Given the description of an element on the screen output the (x, y) to click on. 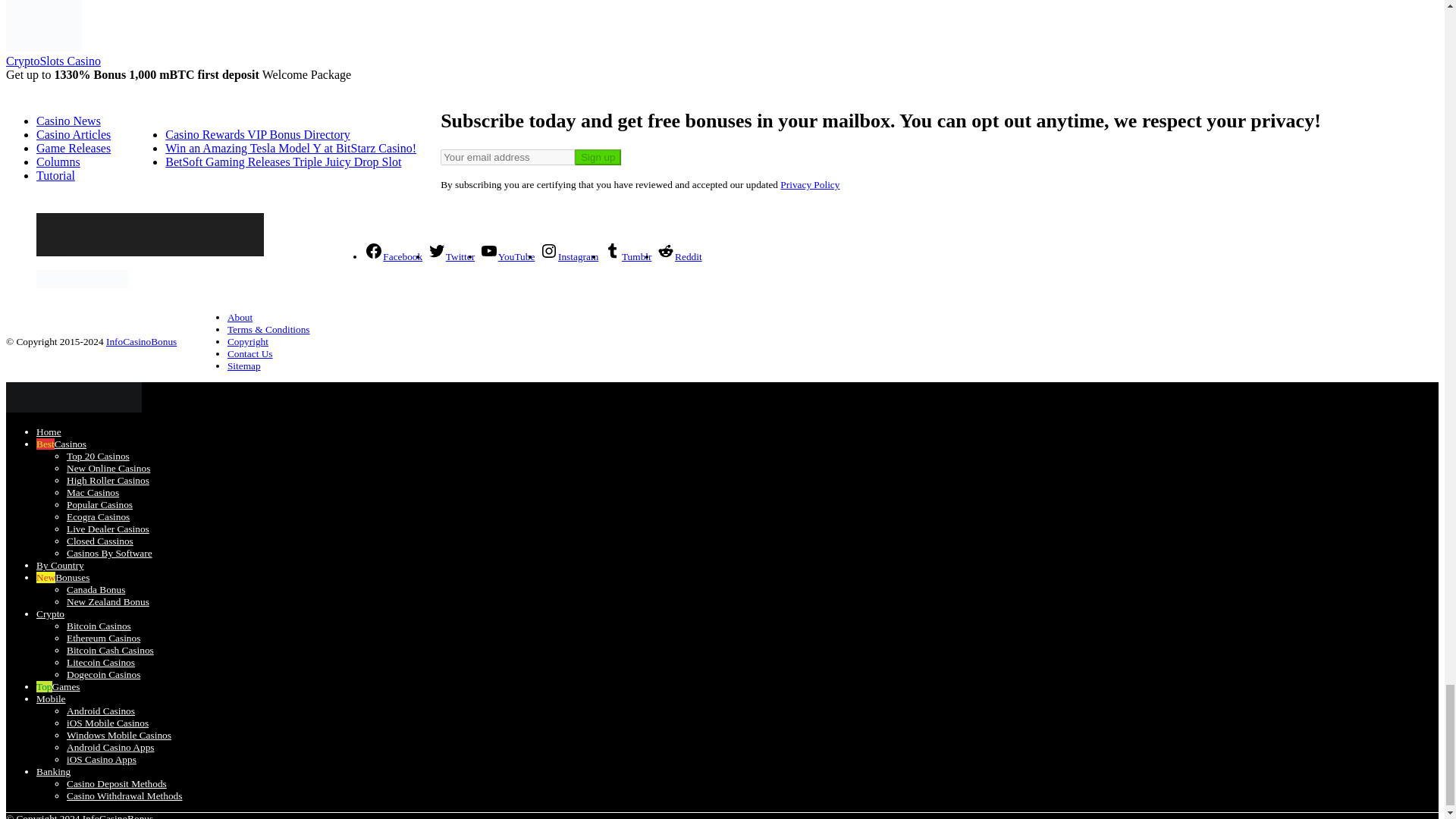
Sign up (598, 157)
